Given the description of an element on the screen output the (x, y) to click on. 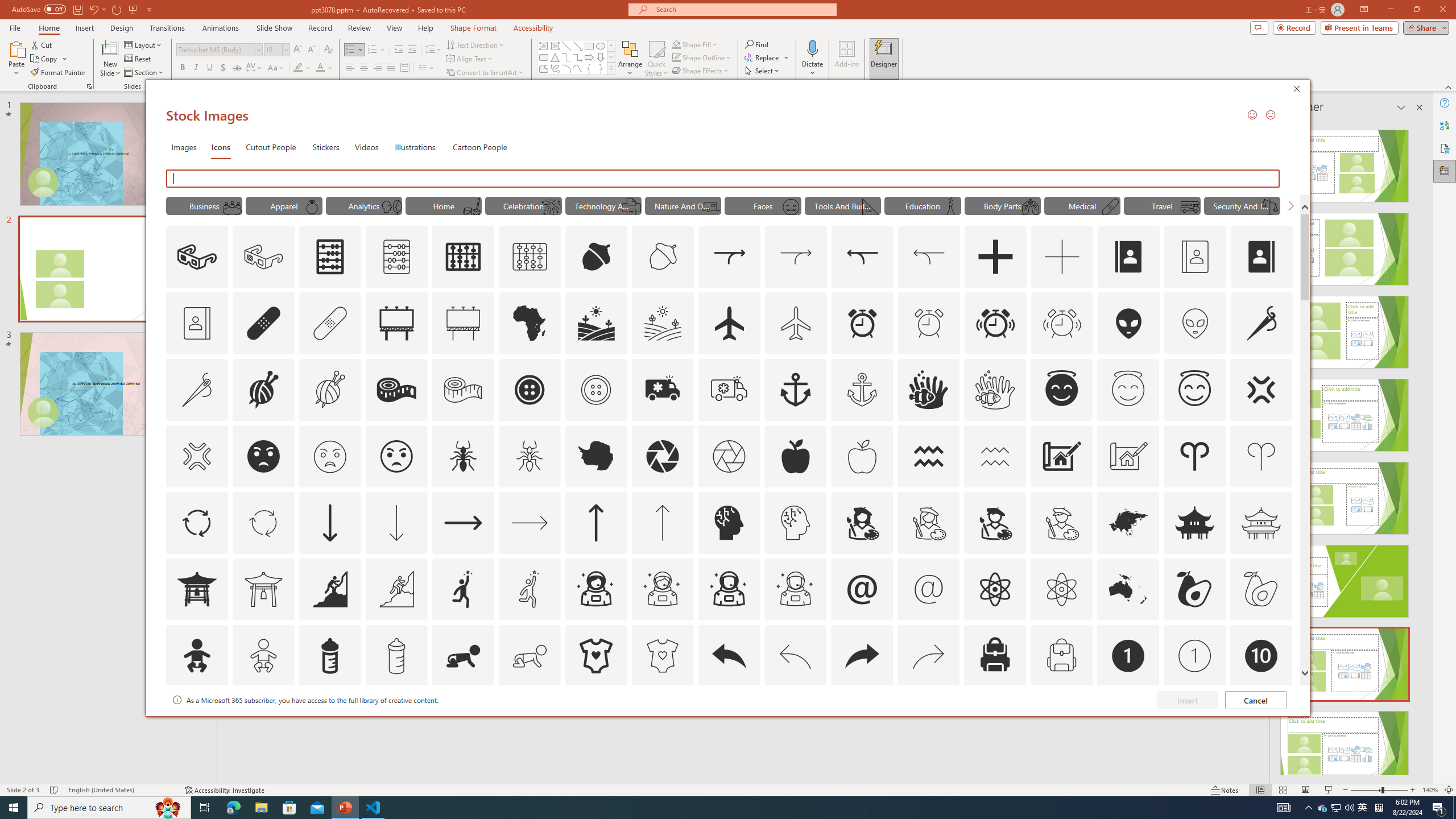
Left Brace (589, 68)
AutomationID: Icons_Badge9_M (1322, 807)
AutomationID: Icons_AdhesiveBandage (1260, 721)
"Technology And Electronics" Icons. (263, 323)
AutomationID: Icons_Badge3 (603, 205)
AutomationID: Icons_Anchor (395, 721)
Align Right (795, 389)
AutomationID: Icons_Backpack (377, 67)
